Given the description of an element on the screen output the (x, y) to click on. 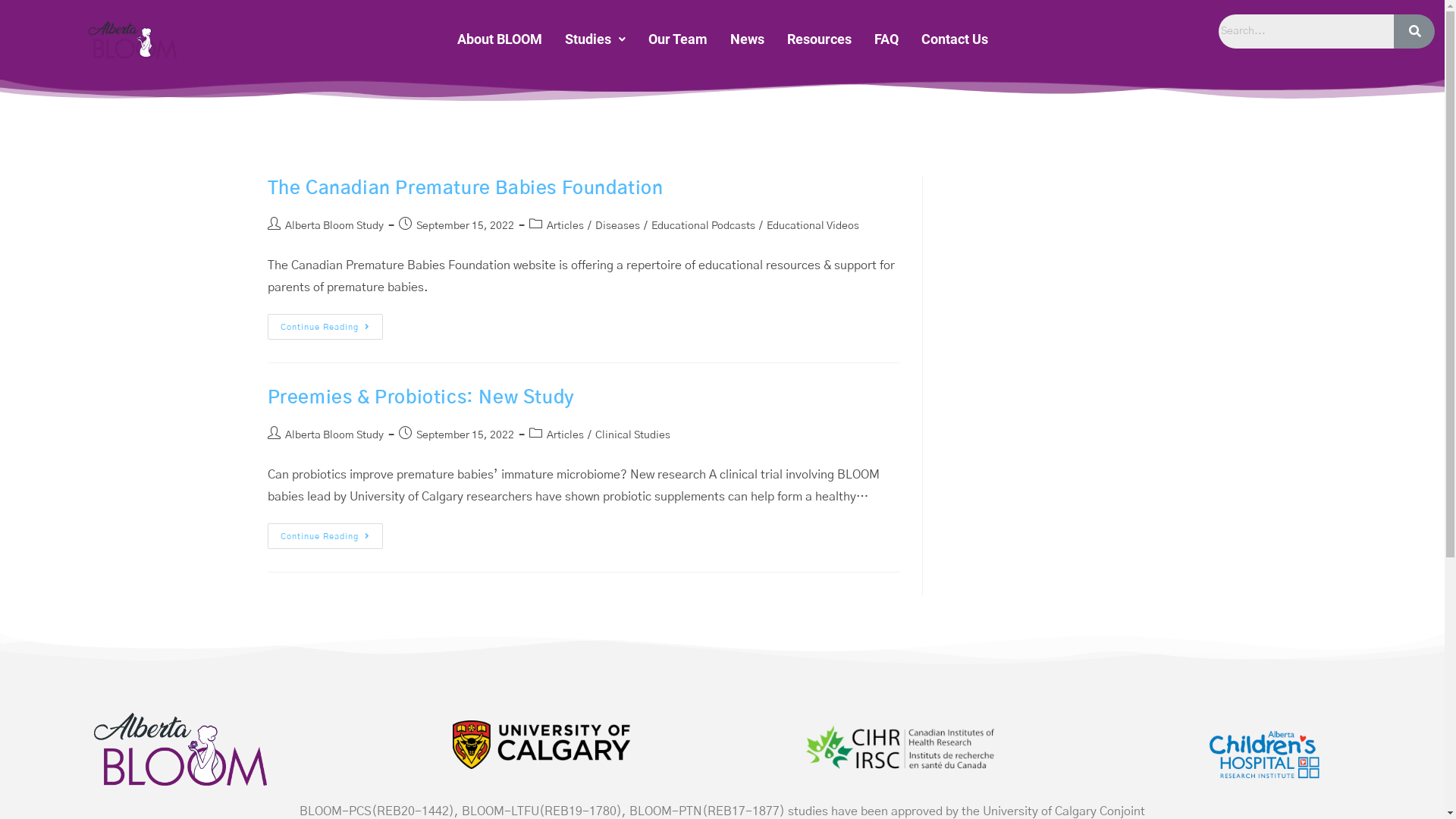
Continue Reading Element type: text (324, 326)
Alberta Bloom Study Element type: text (334, 225)
Alberta Bloom Study Element type: text (334, 434)
Educational Podcasts Element type: text (702, 225)
Resources Element type: text (818, 39)
Articles Element type: text (564, 434)
The Canadian Premature Babies Foundation Element type: text (464, 188)
Search Element type: hover (1306, 31)
Preemies & Probiotics: New Study Element type: text (420, 398)
Contact Us Element type: text (954, 39)
Continue Reading Element type: text (324, 536)
About BLOOM Element type: text (499, 39)
Our Team Element type: text (677, 39)
Studies Element type: text (595, 39)
Educational Videos Element type: text (811, 225)
Articles Element type: text (564, 225)
Clinical Studies Element type: text (631, 434)
News Element type: text (746, 39)
FAQ Element type: text (886, 39)
Diseases Element type: text (616, 225)
